Given the description of an element on the screen output the (x, y) to click on. 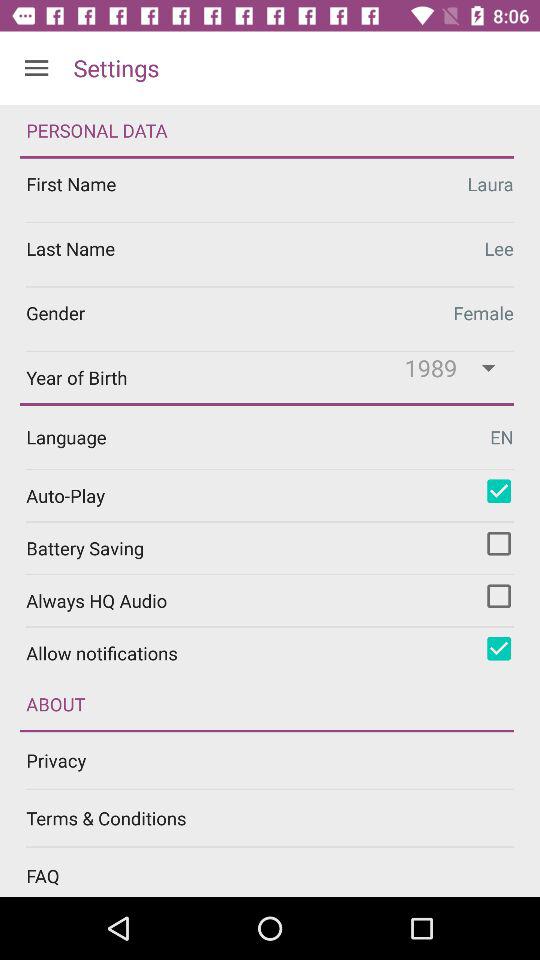
female (270, 318)
